Given the description of an element on the screen output the (x, y) to click on. 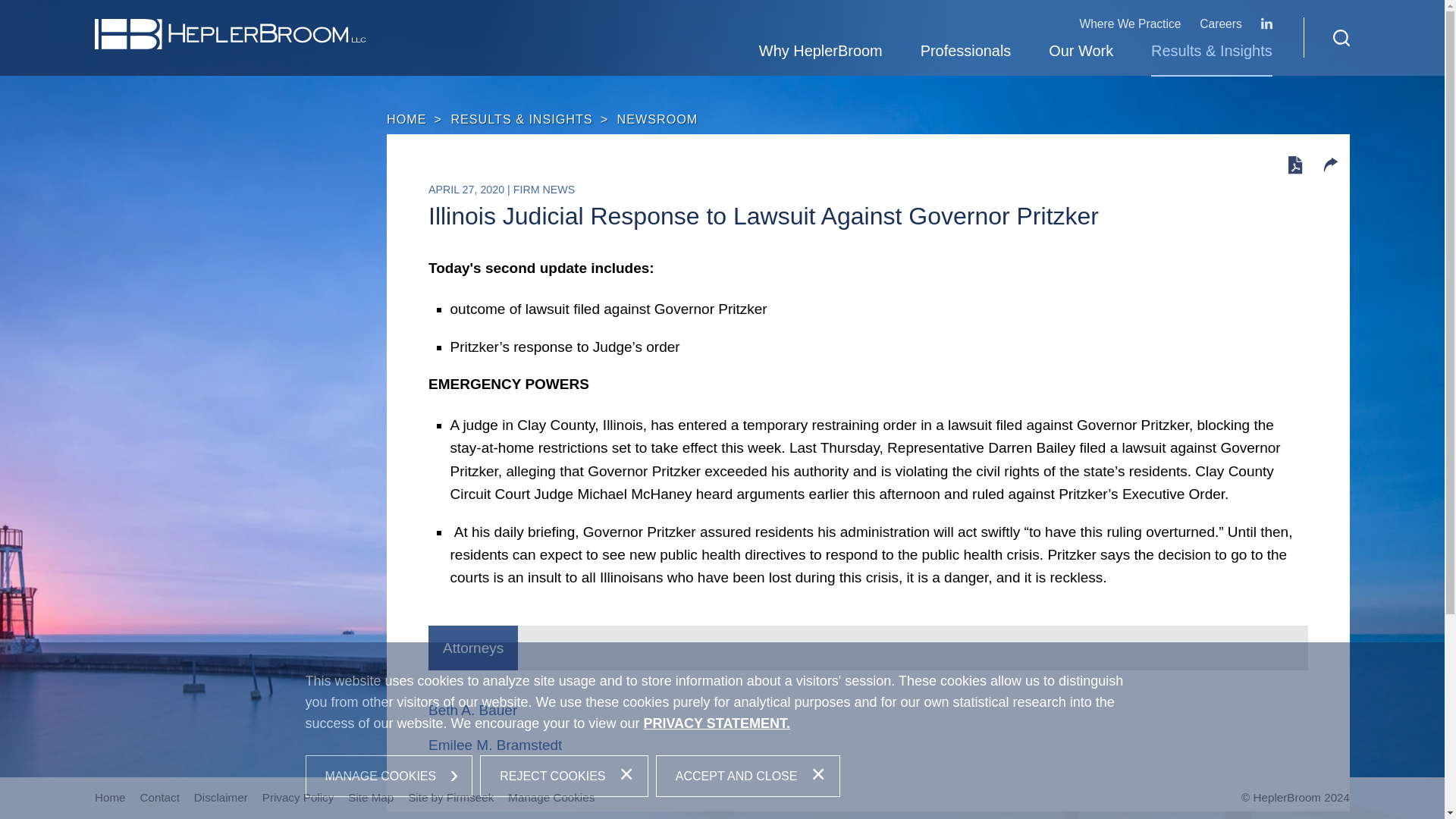
Share (1330, 164)
Why HeplerBroom (820, 53)
Our Work (1080, 53)
Main Content (667, 19)
Share (1330, 166)
Cookie Settings (660, 19)
Professionals (965, 53)
Menu (674, 19)
Search (1341, 37)
Main Menu (674, 19)
